Given the description of an element on the screen output the (x, y) to click on. 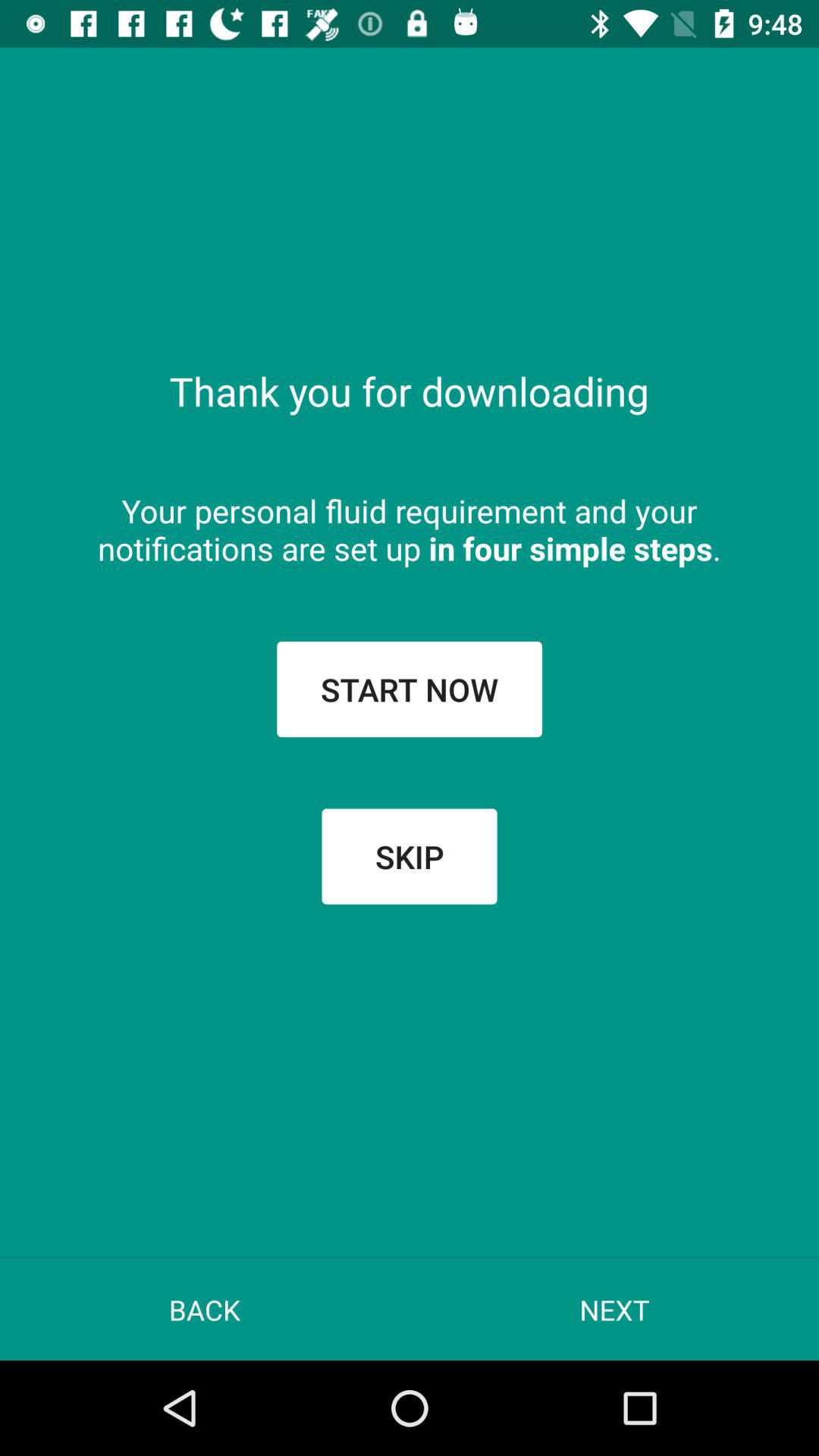
jump until the start now button (409, 689)
